Given the description of an element on the screen output the (x, y) to click on. 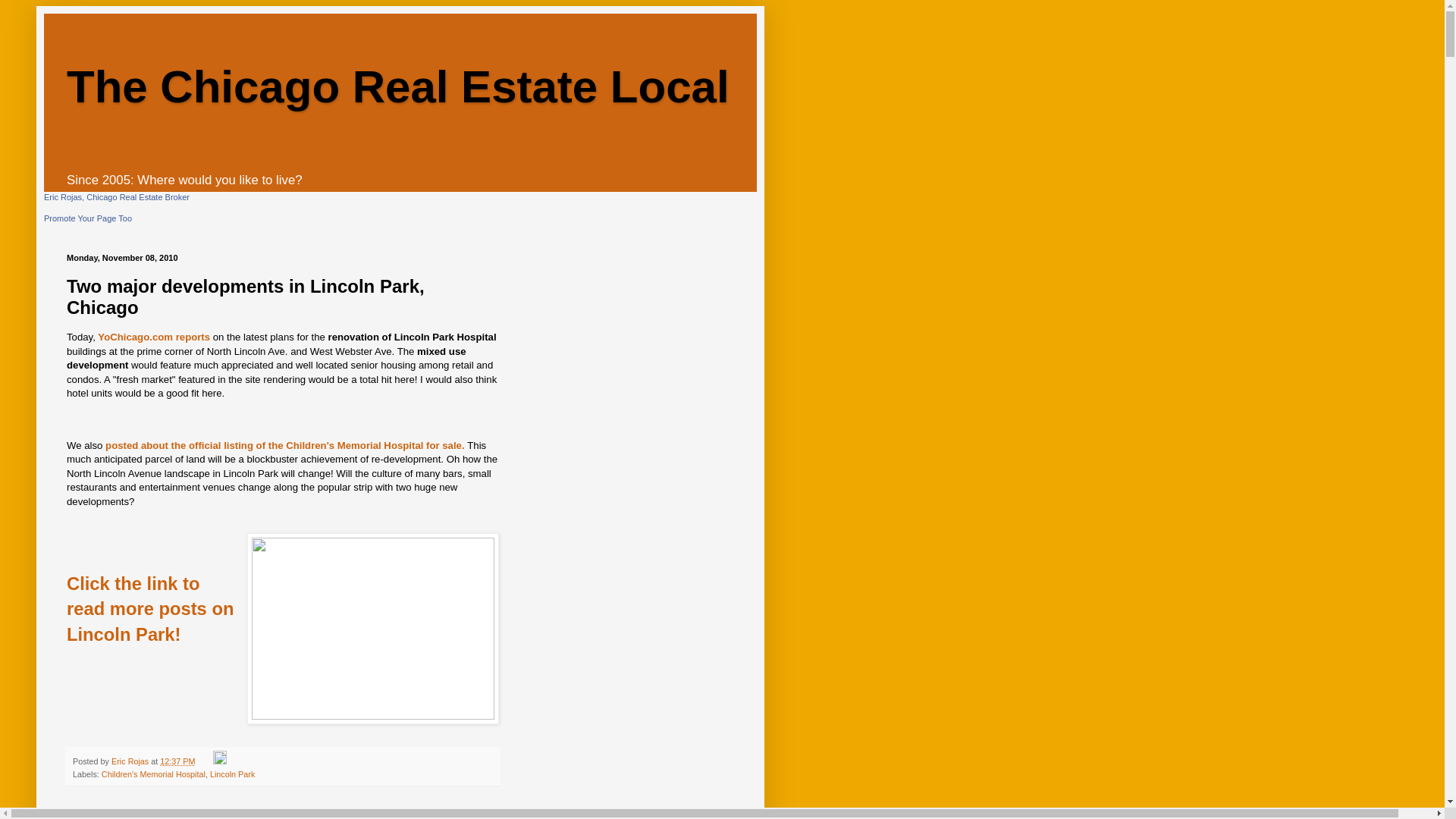
Lincoln Park (231, 773)
The Chicago Real Estate Local (397, 86)
Eric Rojas (131, 760)
YoChicago.com reports (153, 337)
permanent link (177, 760)
Eric Rojas, Chicago Real Estate Broker (116, 196)
Make your own badge! (87, 217)
author profile (131, 760)
Edit Post (219, 760)
Children's Memorial Hospital (153, 773)
Promote Your Page Too (87, 217)
Click the link to read more posts on Lincoln Park! (149, 608)
Eric Rojas, Chicago Real Estate Broker (116, 196)
12:37 PM (177, 760)
